Given the description of an element on the screen output the (x, y) to click on. 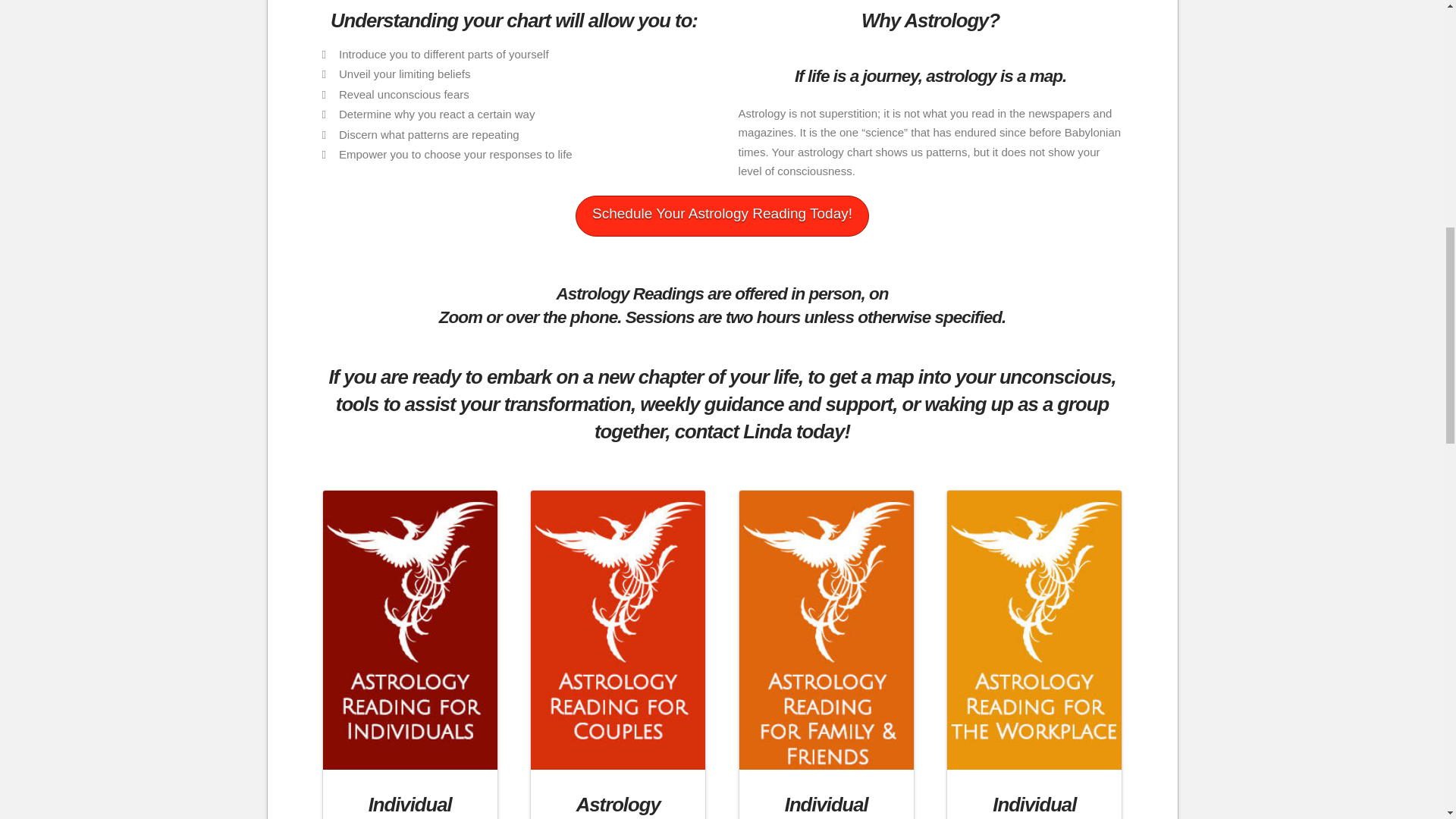
Schedule Your Astrology Reading Today! (722, 215)
